Given the description of an element on the screen output the (x, y) to click on. 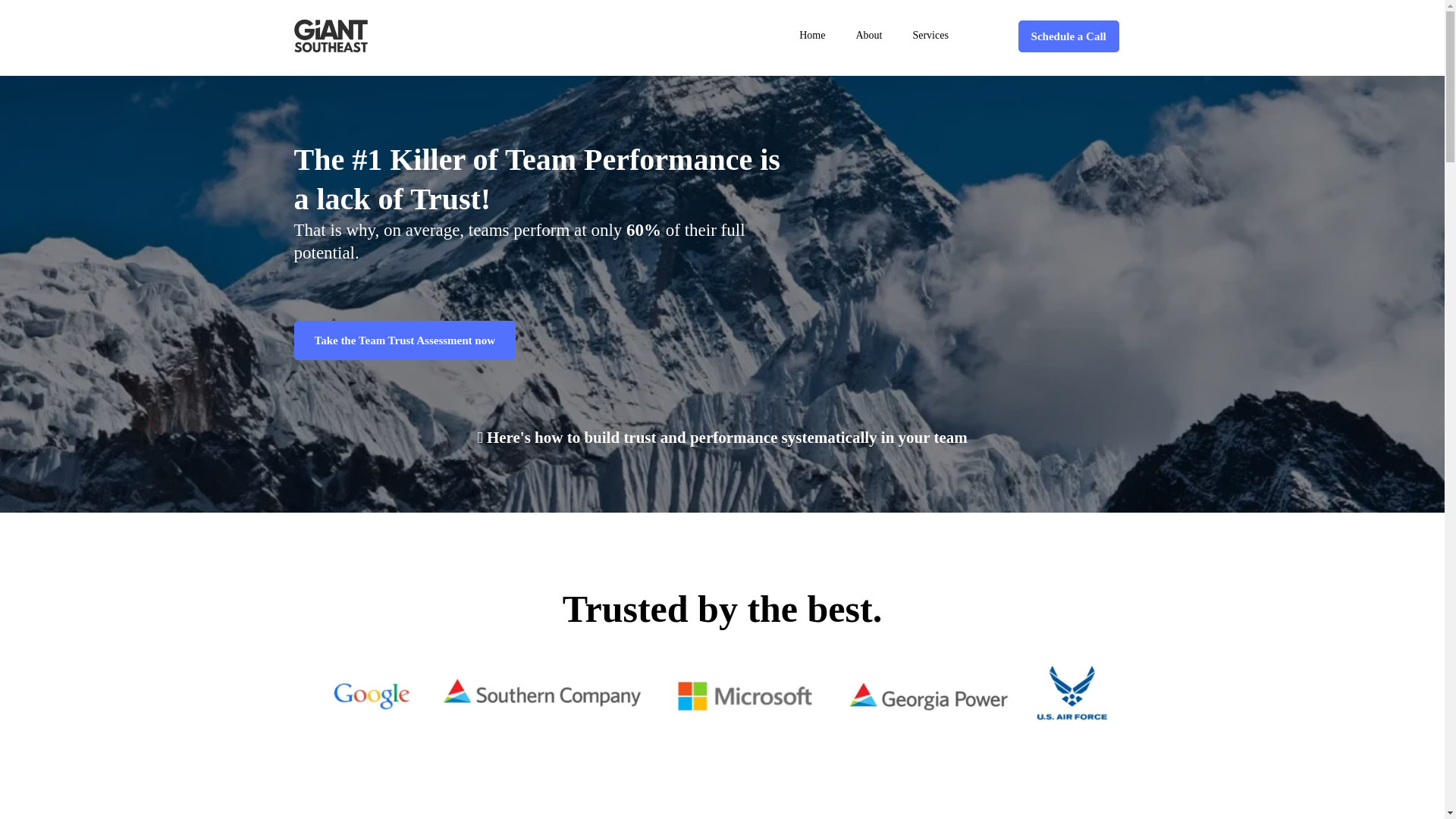
About (868, 35)
Home (812, 35)
Services (929, 35)
Schedule a Call (1068, 35)
Take the Team Trust Assessment now (405, 340)
